Given the description of an element on the screen output the (x, y) to click on. 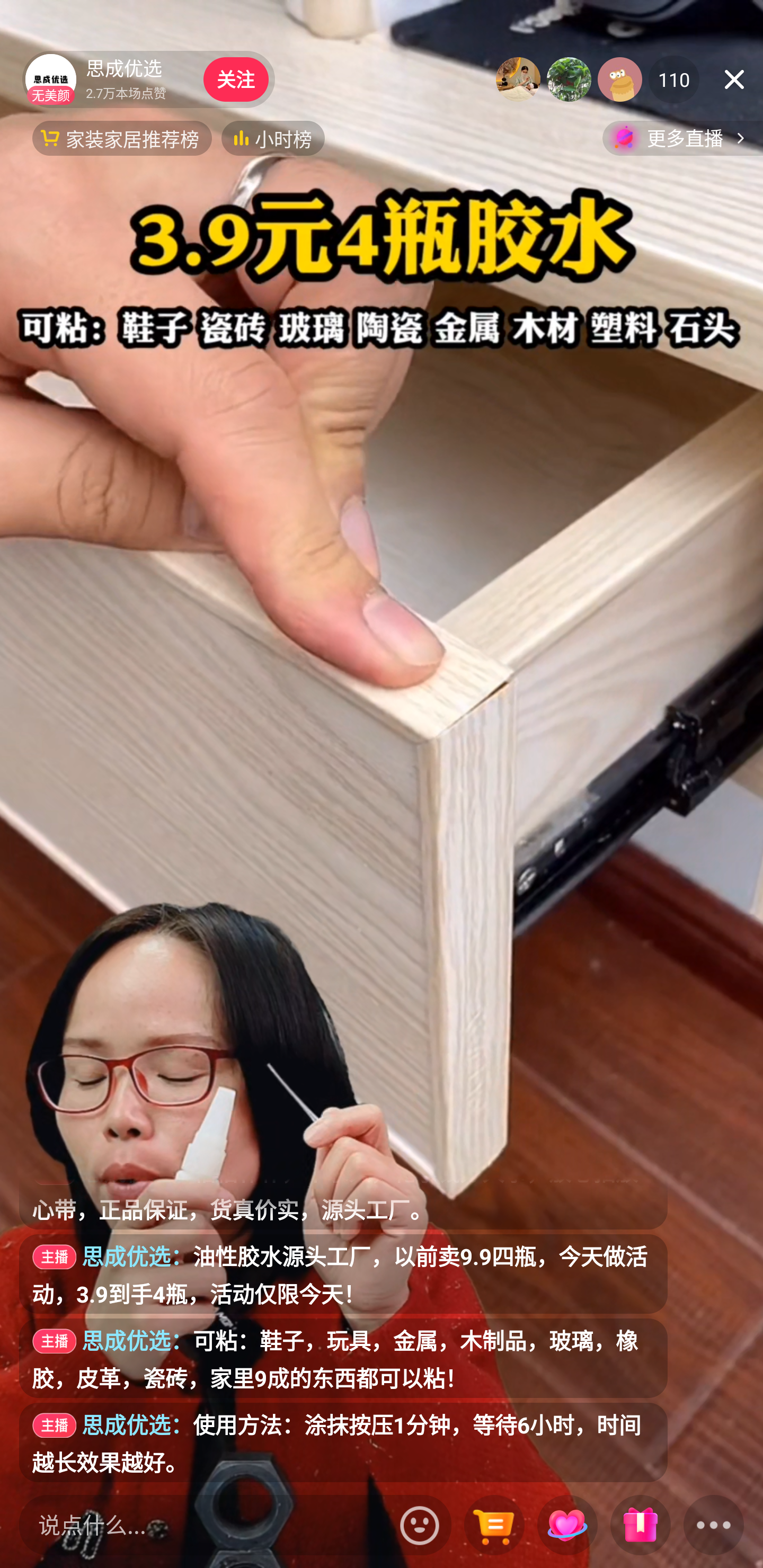
主播思成优选 2.7万本场点赞  无美颜 思成优选 2.7万本场点赞 关注 (148, 79)
110 110在线观众 (673, 78)
关注 (235, 78)
关闭 (733, 78)
家装家居推荐榜，按钮 (122, 137)
小时榜，按钮 (273, 137)
更多直播 (682, 137)
* 思成优选：粘粘补补，不求人，花小钱办大事，放心拍放心带，正品保证，货真价实，源头工厂。 (343, 1204)
* 思成优选：油性胶水源头工厂，以前卖9.9四瓶，今天做活动，3.9到手4瓶，活动仅限今天！ (343, 1273)
* 思成优选：可粘：鞋子，玩具，金属，木制品，玻璃，橡胶，皮革，瓷砖，家里9成的东西都可以粘！ (343, 1358)
* 思成优选：使用方法：涂抹按压1分钟，等待6小时，时间越长效果越好。 (343, 1442)
说点什么... 表情入口 (235, 1524)
表情入口 (419, 1524)
商品列表 (493, 1526)
小心心 (567, 1526)
礼物 (640, 1526)
更多面板 按钮 (713, 1526)
